Given the description of an element on the screen output the (x, y) to click on. 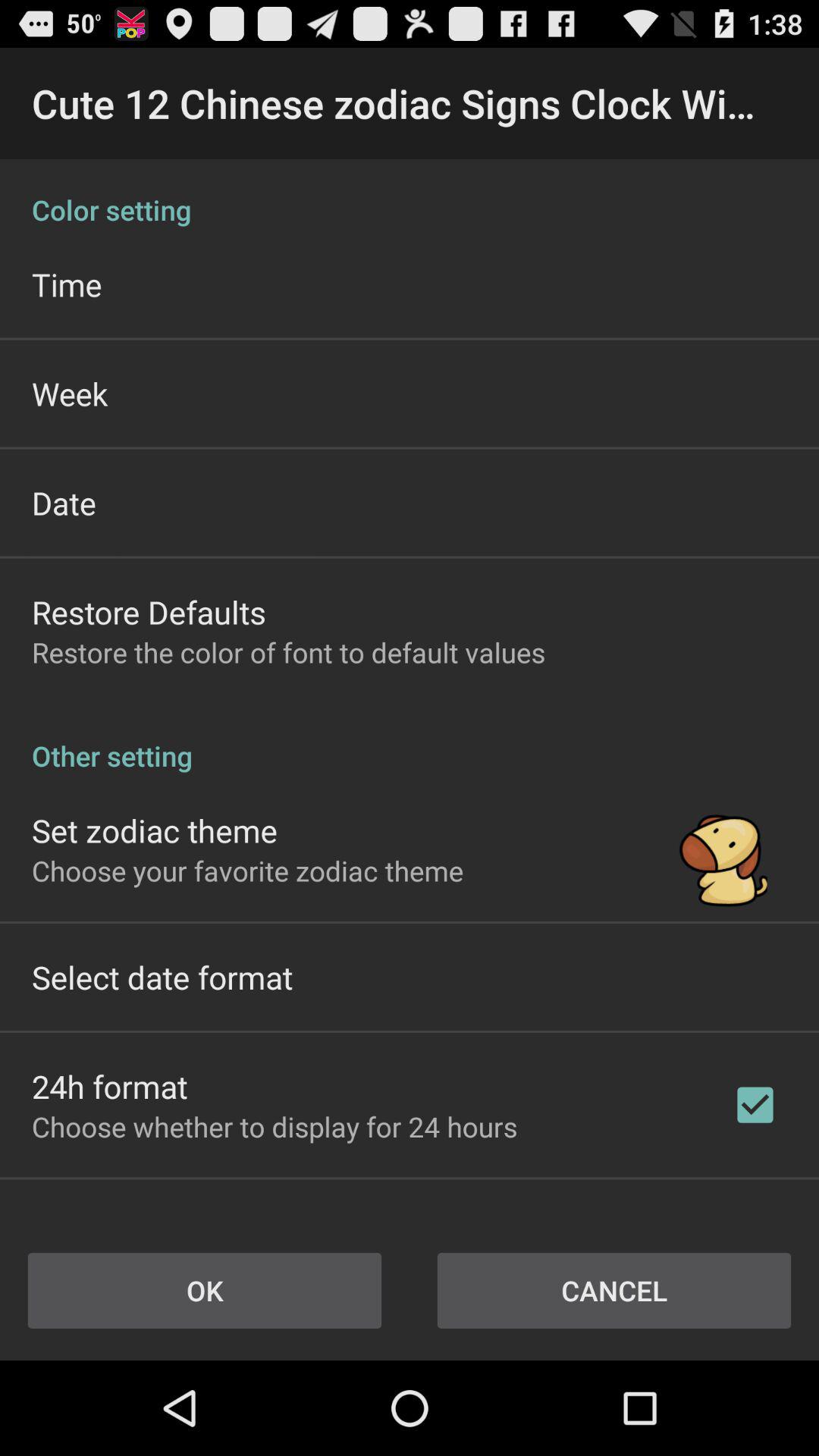
open icon below restore defaults icon (288, 652)
